Given the description of an element on the screen output the (x, y) to click on. 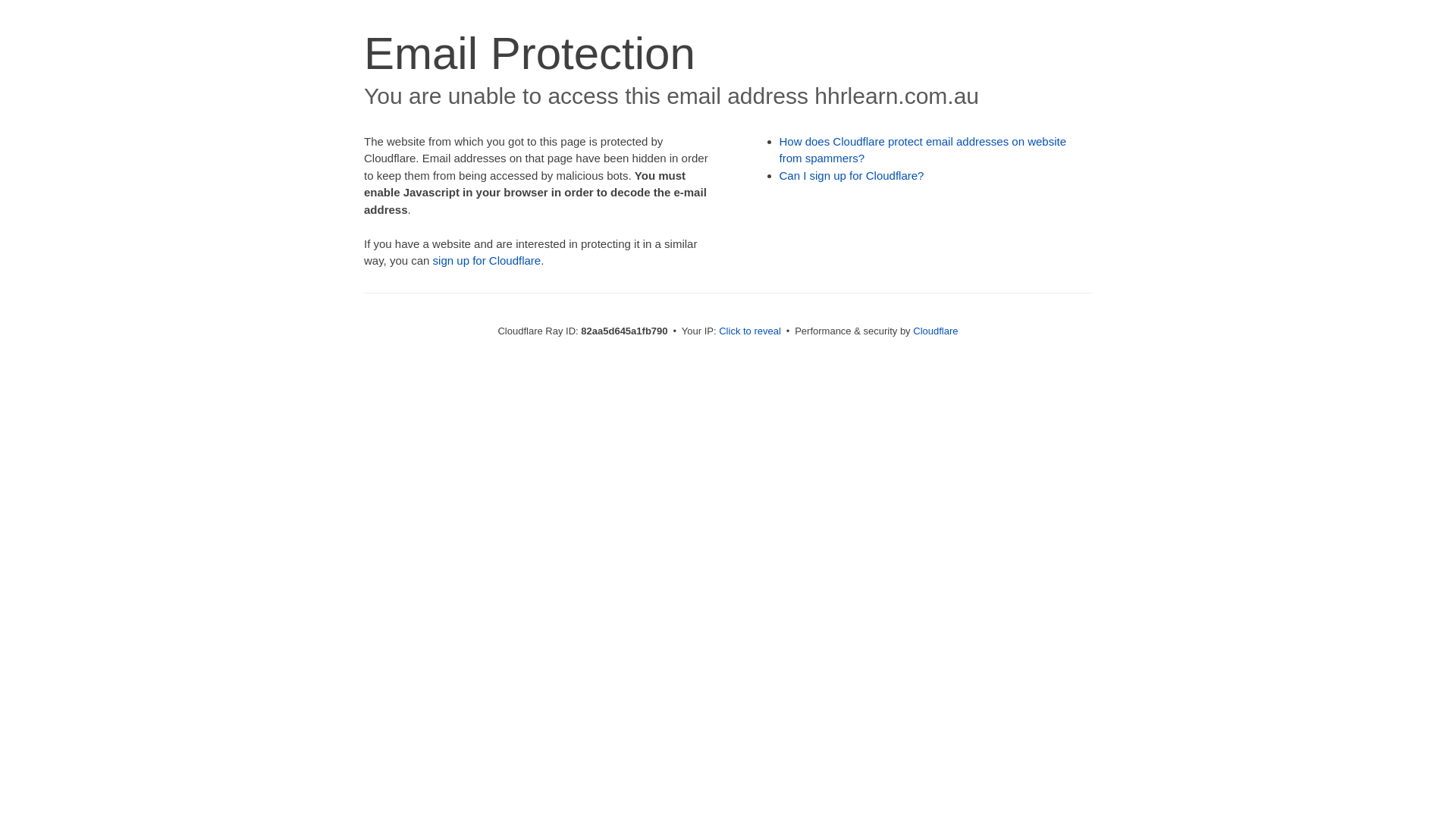
Can I sign up for Cloudflare? Element type: text (851, 175)
sign up for Cloudflare Element type: text (487, 260)
Cloudflare Element type: text (935, 330)
Click to reveal Element type: text (749, 330)
